Given the description of an element on the screen output the (x, y) to click on. 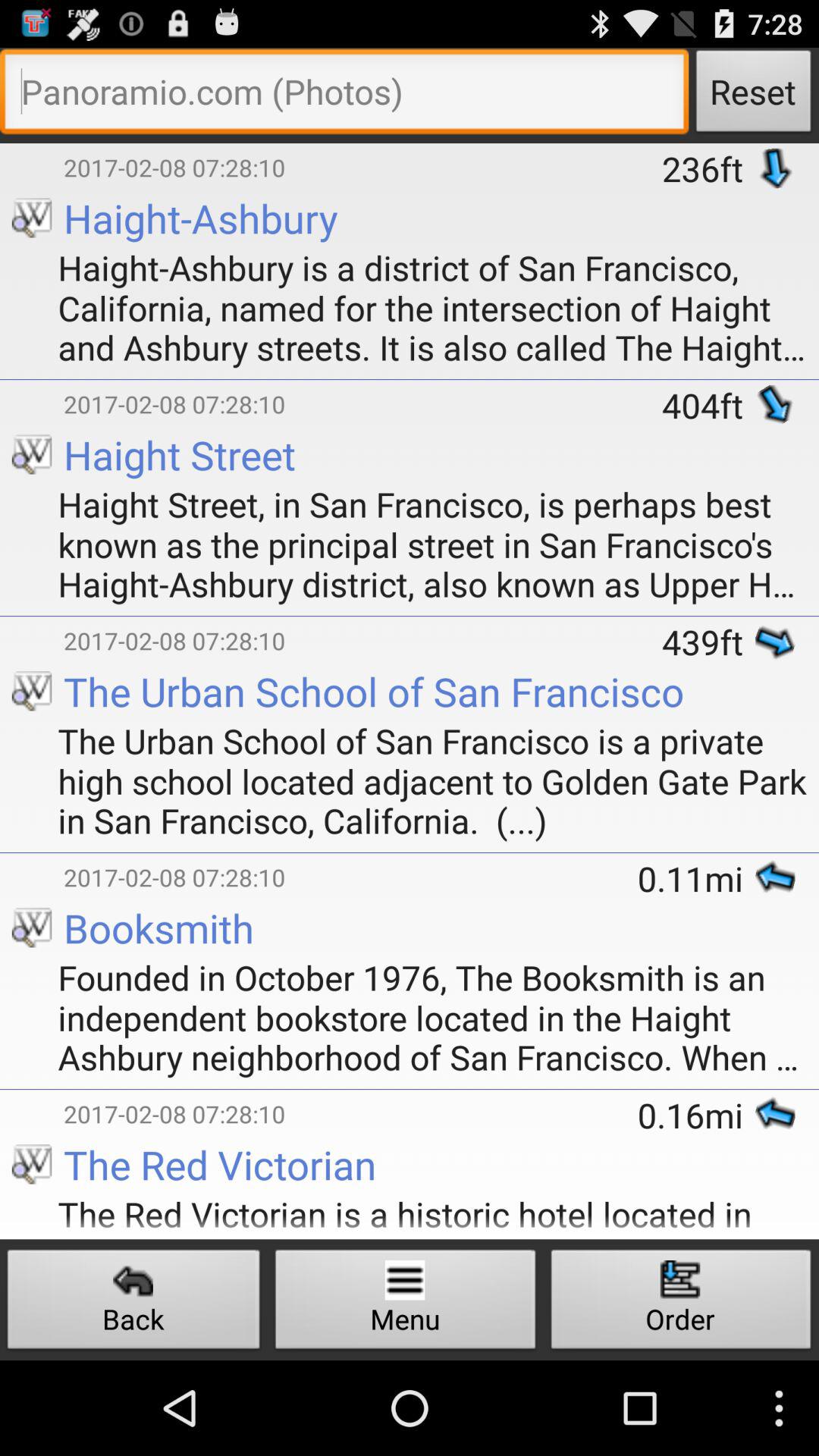
scroll until the 404ft item (708, 405)
